Given the description of an element on the screen output the (x, y) to click on. 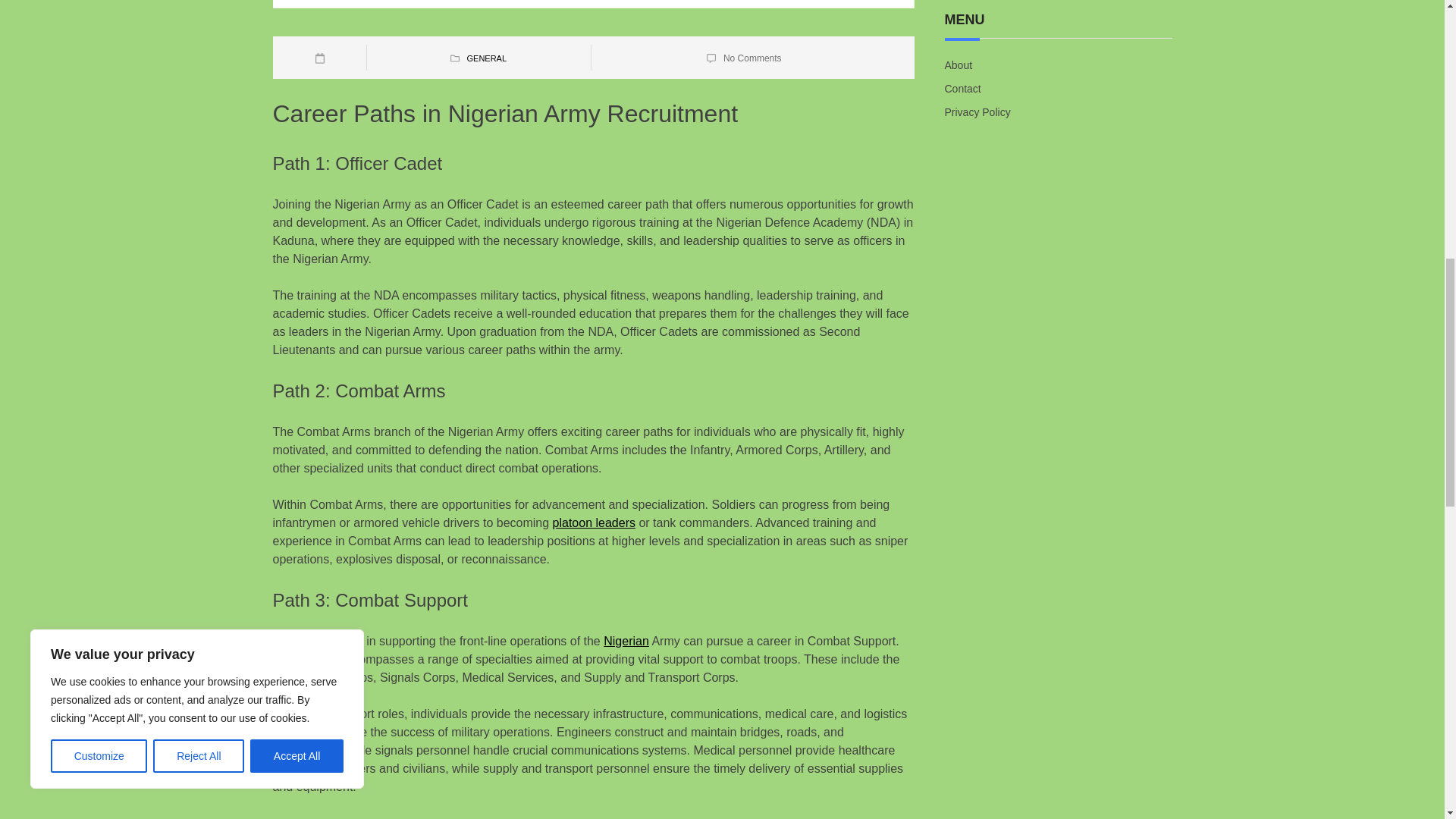
Nigerian (626, 640)
No Comments (752, 58)
GENERAL (485, 58)
platoon leaders (593, 522)
